Given the description of an element on the screen output the (x, y) to click on. 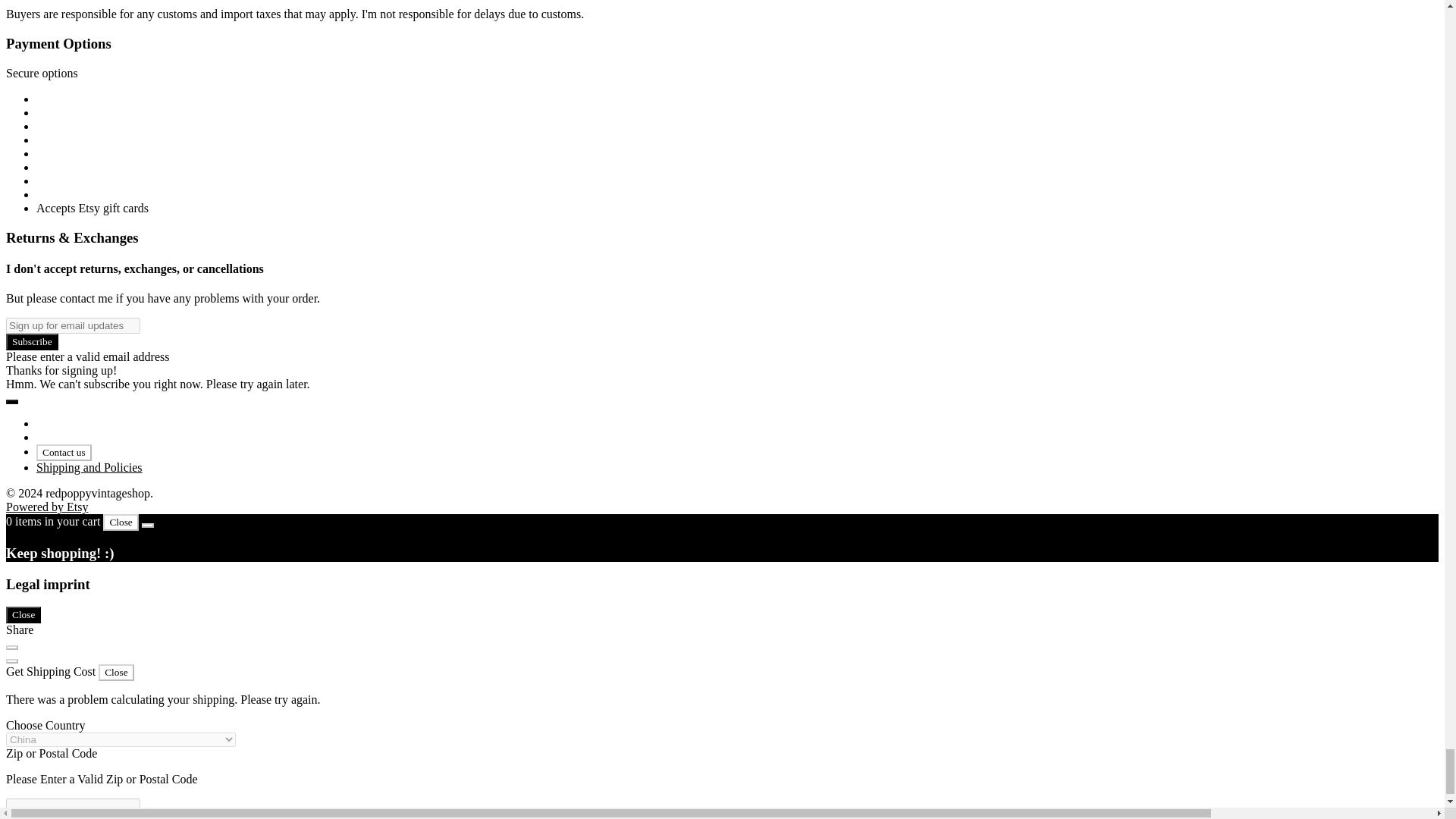
Contact us (63, 452)
Subscribe (31, 341)
Powered by Etsy (46, 506)
Close (22, 614)
Subscribe (31, 341)
Shipping and Policies (89, 467)
Close (116, 672)
Close (120, 522)
